Given the description of an element on the screen output the (x, y) to click on. 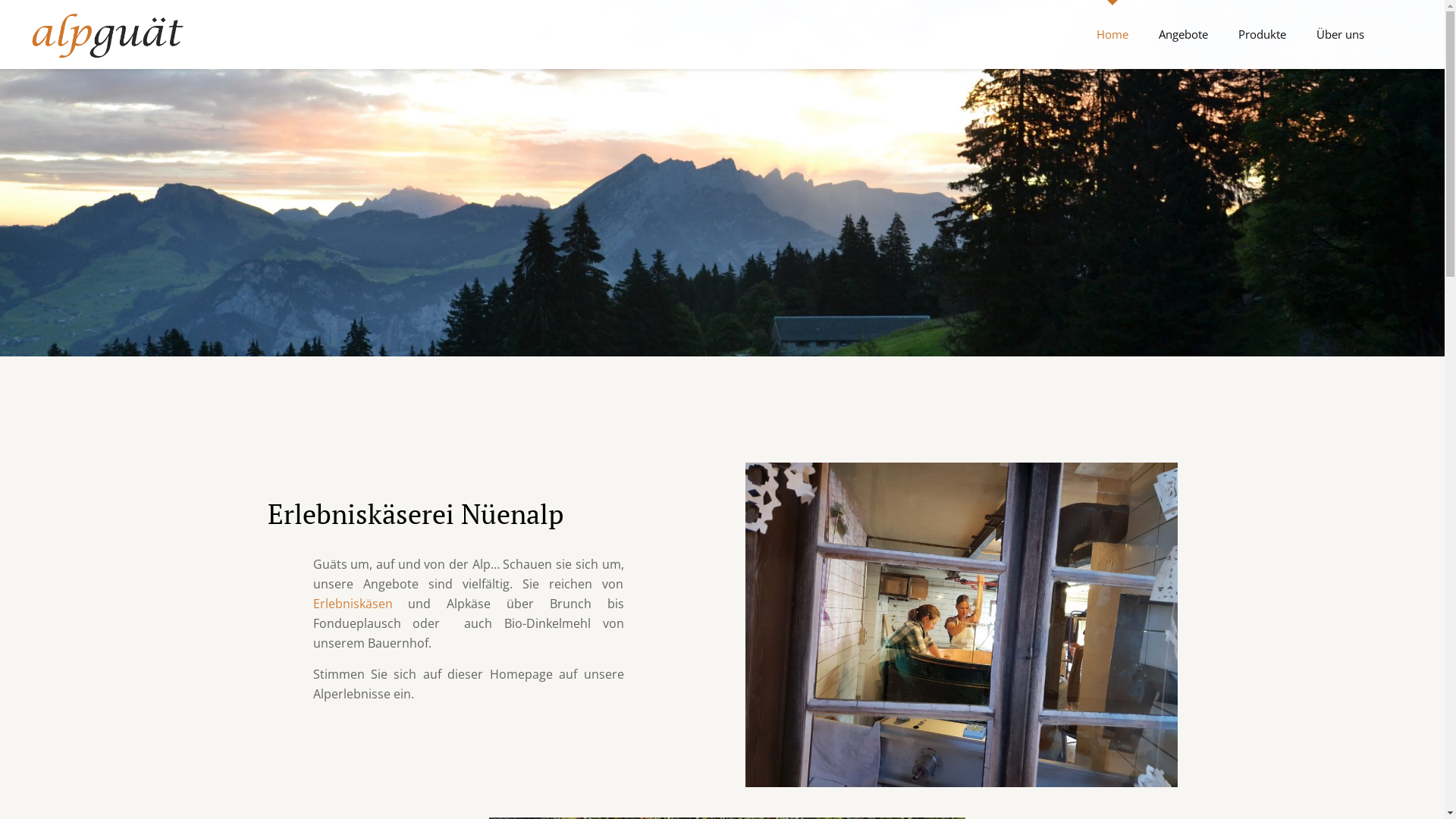
Home Element type: text (1112, 34)
Produkte Element type: text (1262, 34)
Angebote Element type: text (1183, 34)
